Given the description of an element on the screen output the (x, y) to click on. 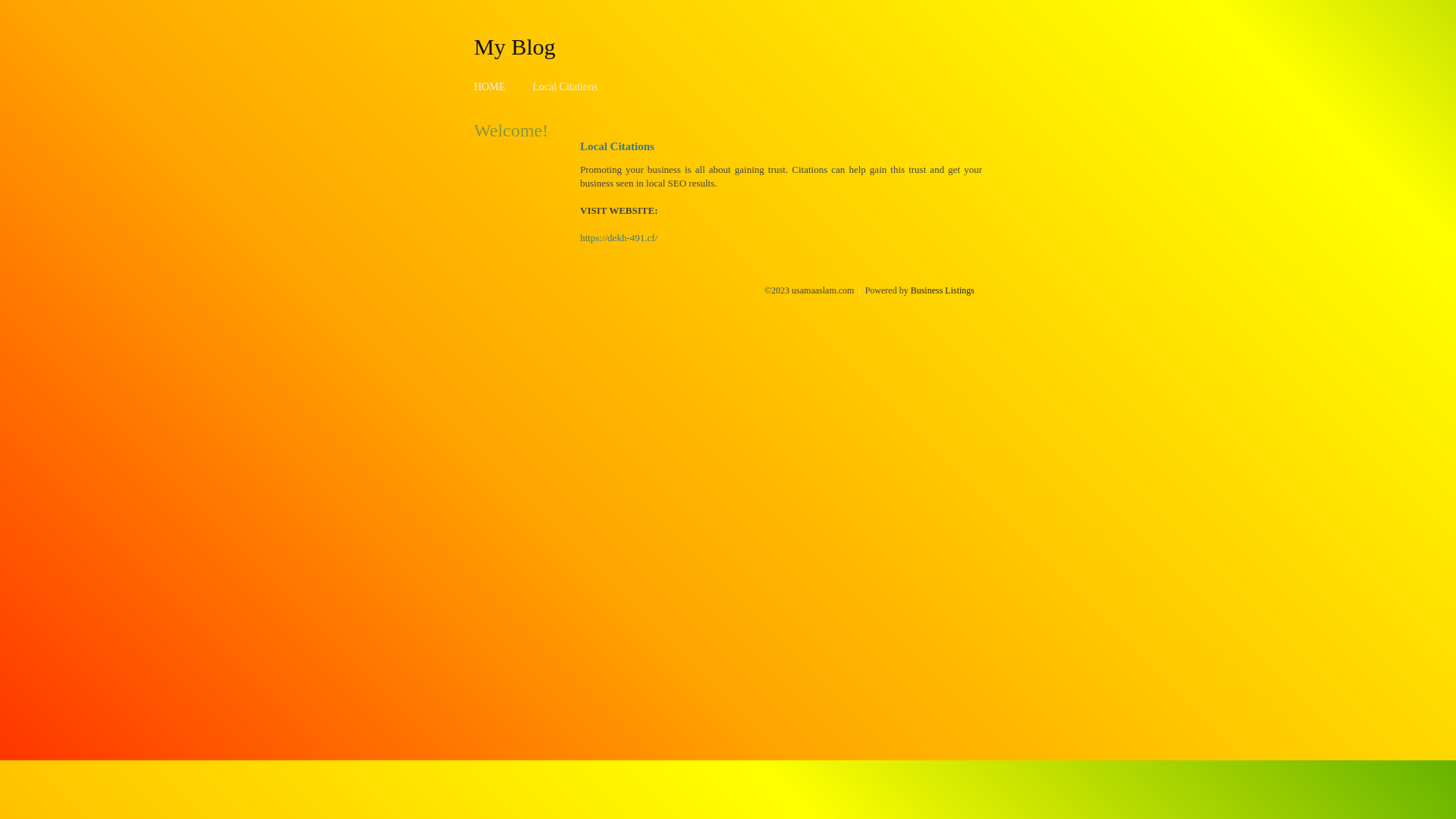
HOME Element type: text (489, 86)
Business Listings Element type: text (942, 290)
Local Citations Element type: text (564, 86)
My Blog Element type: text (514, 46)
https://dekh-491.cf/ Element type: text (618, 237)
